Given the description of an element on the screen output the (x, y) to click on. 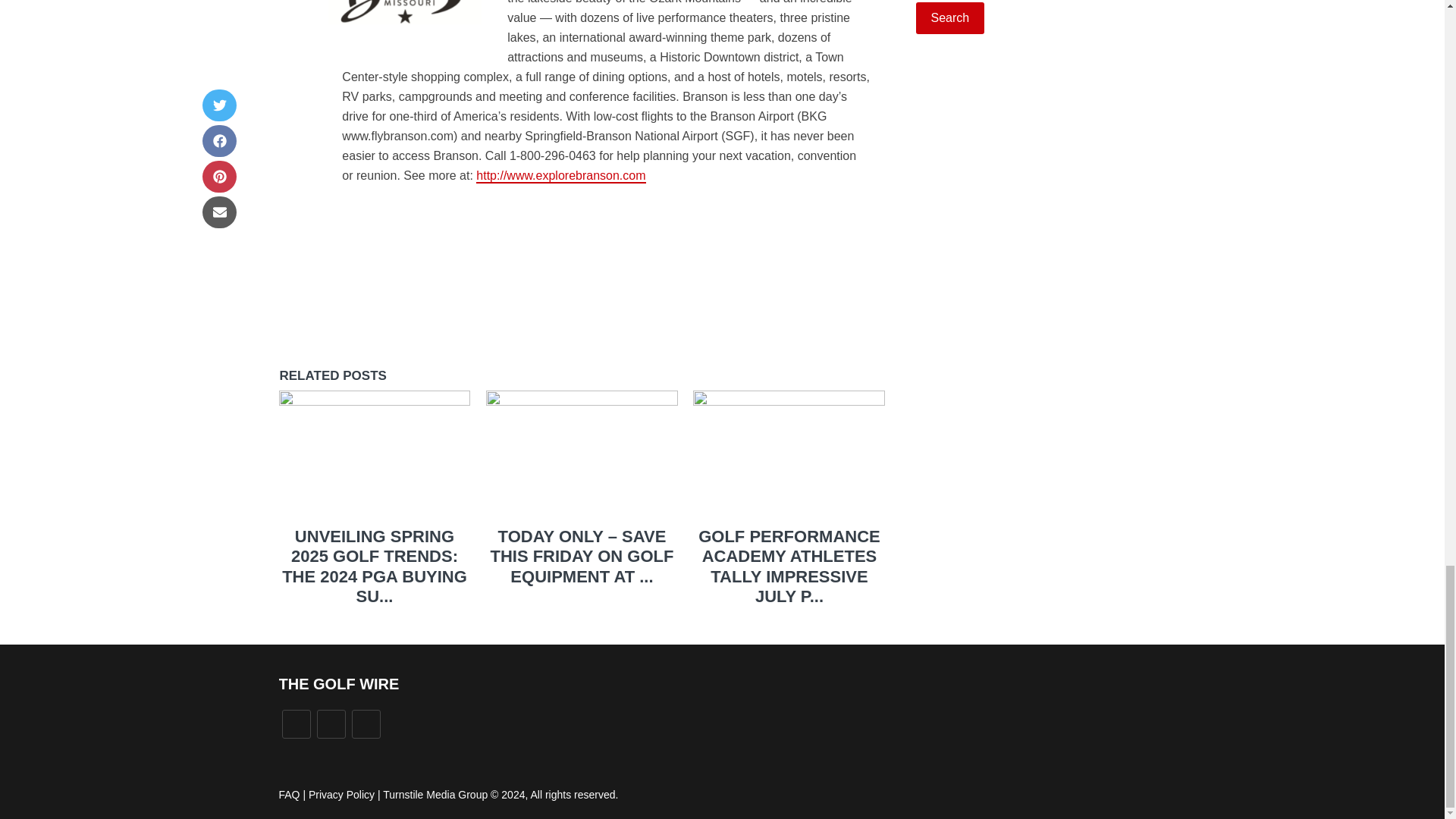
Search (950, 18)
Search (950, 18)
UNVEILING SPRING 2025 GOLF TRENDS: THE 2024 PGA BUYING SU... (374, 566)
GOLF PERFORMANCE ACADEMY ATHLETES TALLY IMPRESSIVE JULY P... (789, 566)
Search (950, 18)
